Given the description of an element on the screen output the (x, y) to click on. 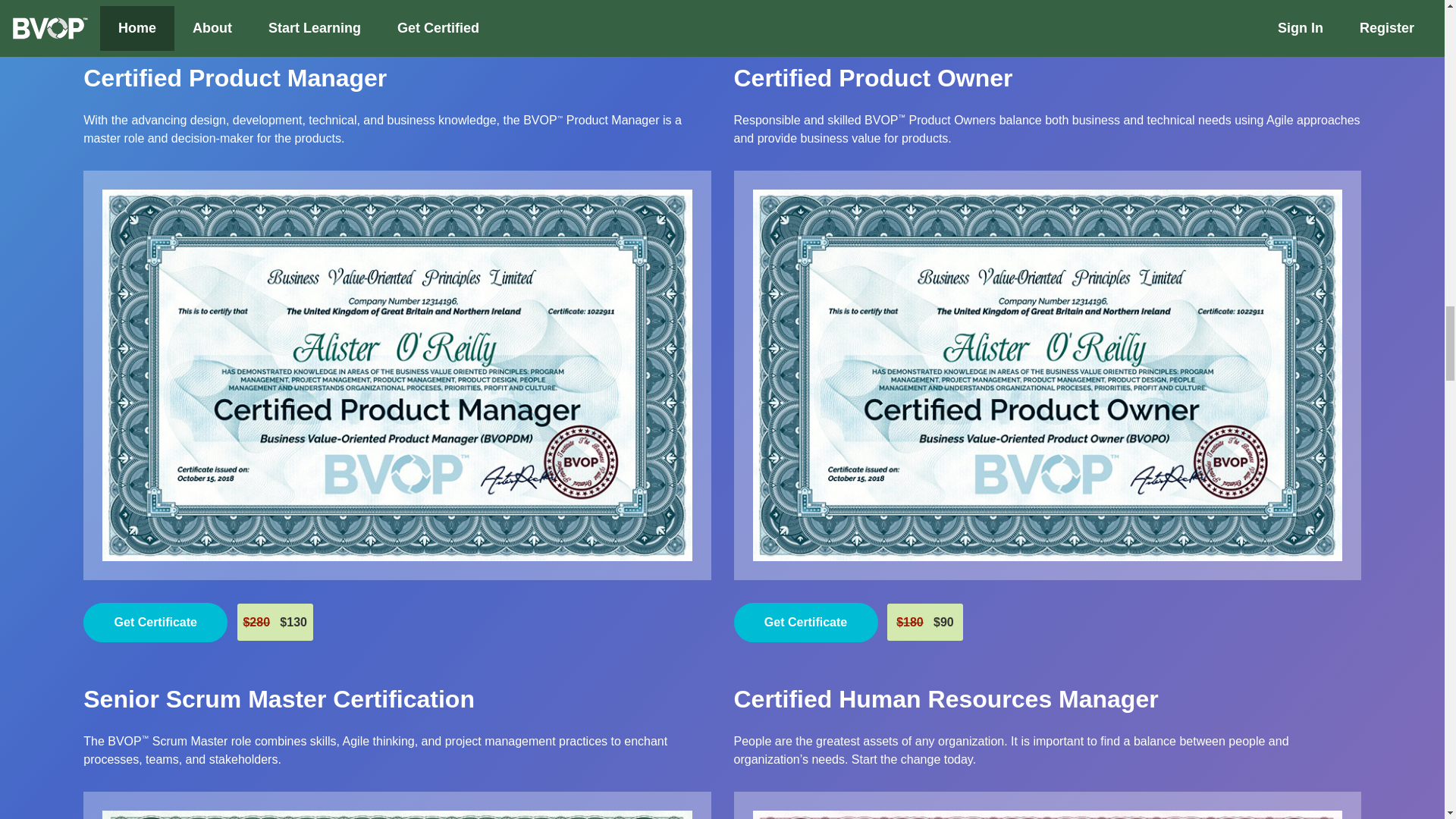
Certified Product Owner (873, 77)
Human Resources Manager Certificate (1046, 814)
Certified Product Manager (234, 77)
Certified Product Manager (234, 77)
Get Certificate (154, 622)
Scrum Master Certification Online (396, 814)
Human Resources Manager Certification (945, 698)
Get Certificate (805, 10)
Senior Scrum Master certificate (278, 698)
Get Certificate (154, 10)
